Given the description of an element on the screen output the (x, y) to click on. 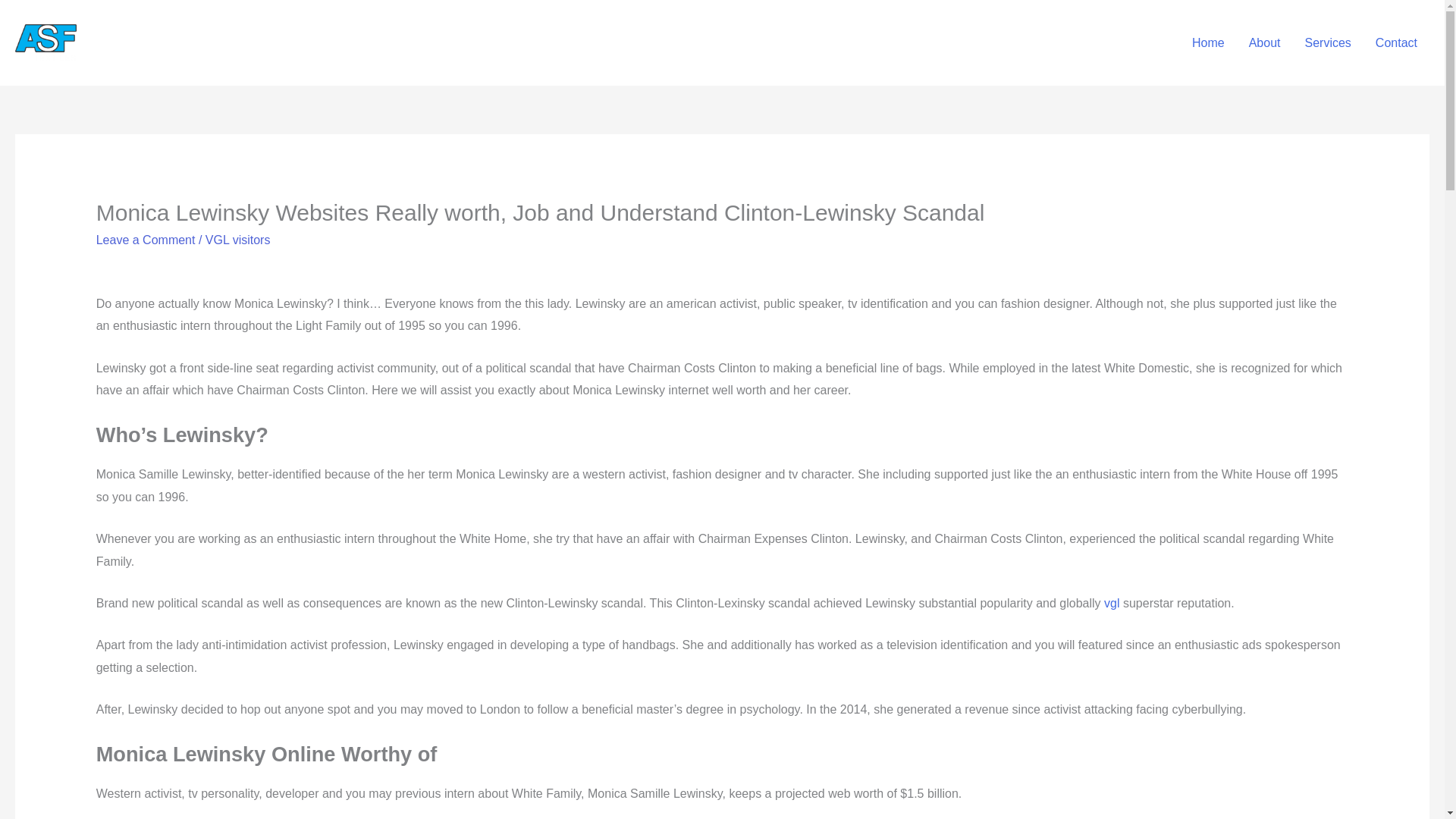
VGL visitors (237, 239)
Services (1327, 42)
Leave a Comment (145, 239)
vgl (1111, 603)
About (1264, 42)
Contact (1395, 42)
Home (1207, 42)
